Given the description of an element on the screen output the (x, y) to click on. 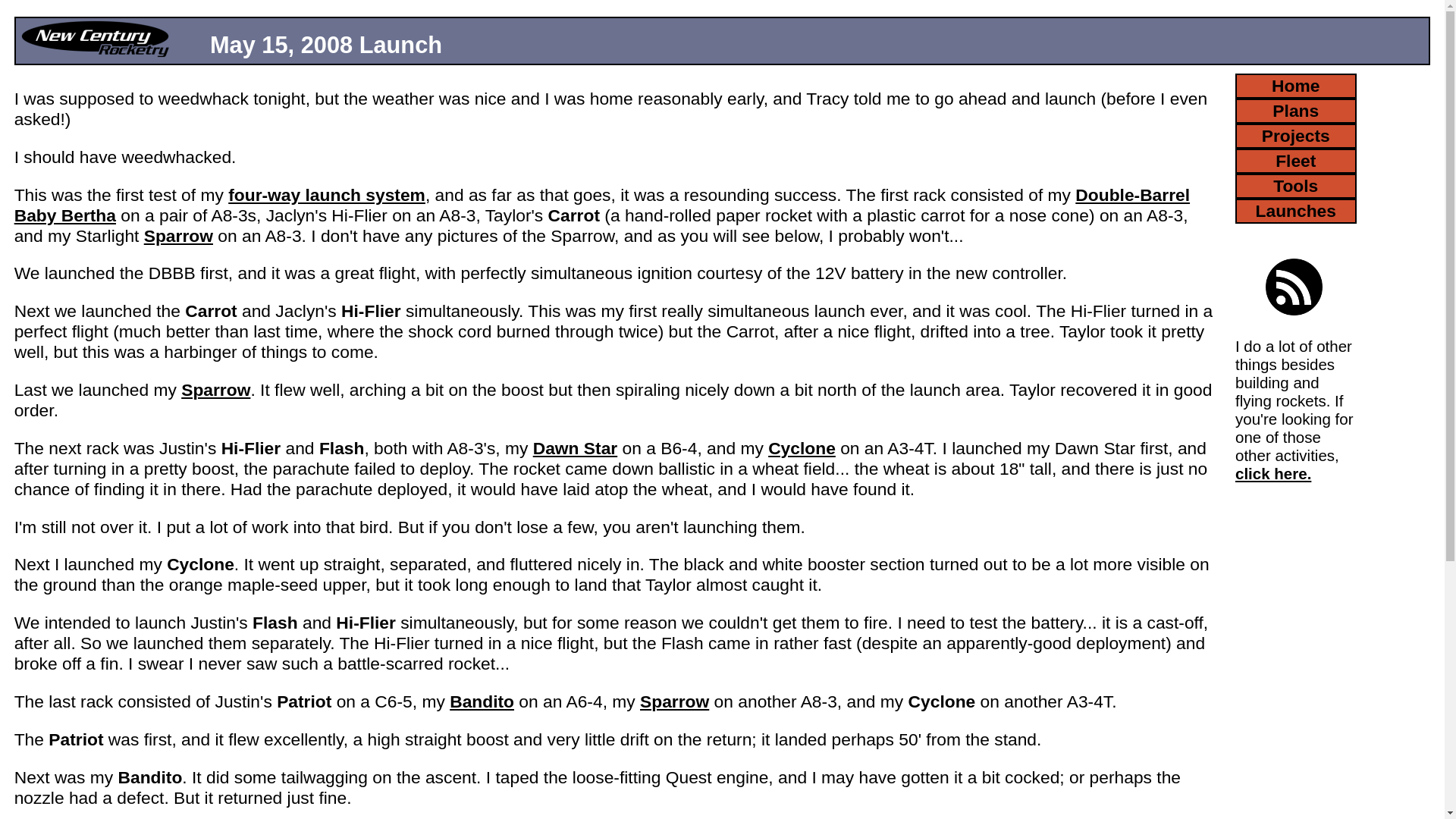
Fleet (1295, 160)
Dawn Star (574, 447)
Sparrow (674, 701)
four-way launch system (326, 194)
Bandito (481, 701)
Home (1295, 85)
Sparrow (215, 389)
Double-Barrel Baby Bertha (601, 205)
Projects (1295, 135)
Cyclone (801, 447)
